Given the description of an element on the screen output the (x, y) to click on. 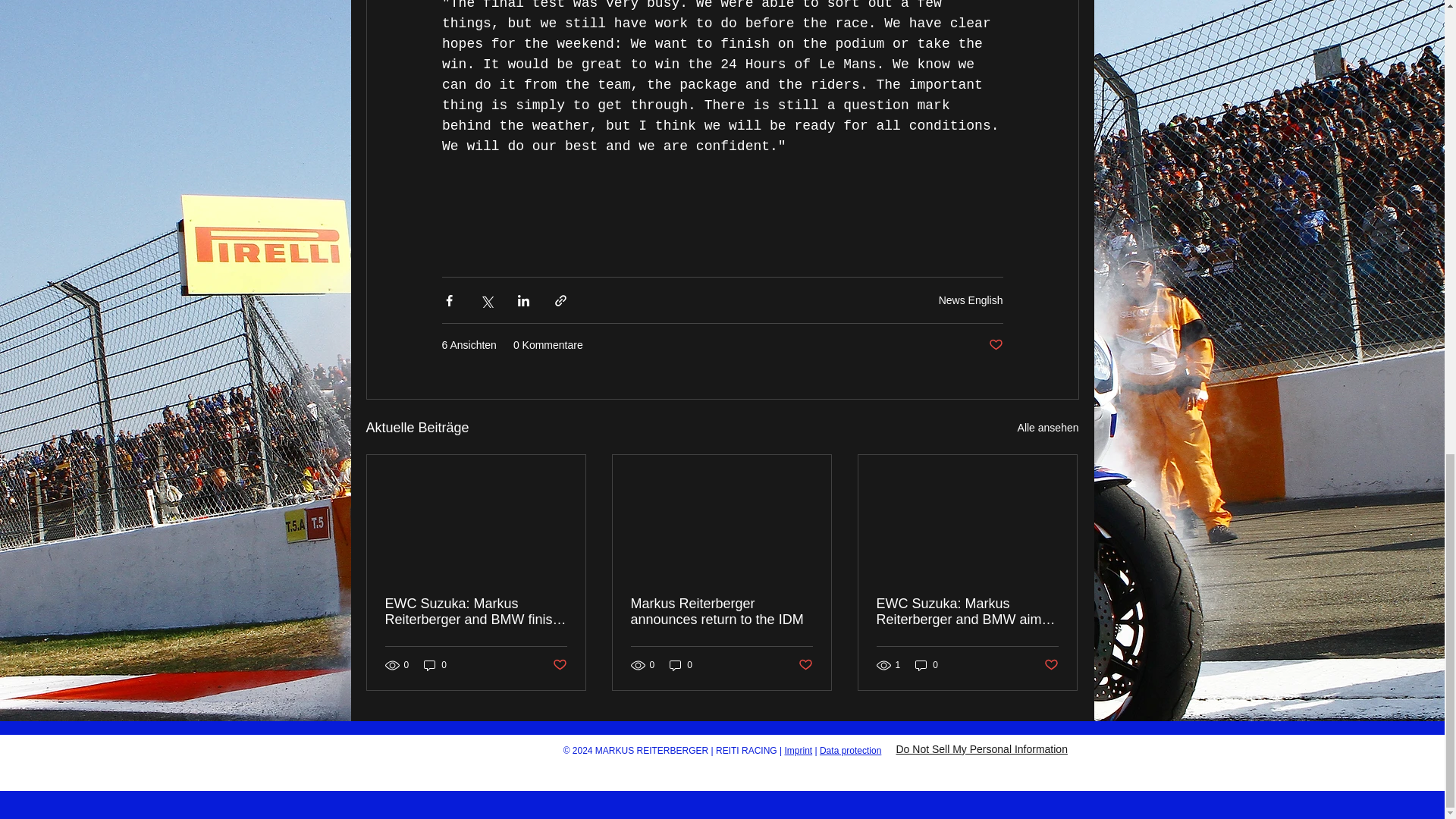
0 (681, 665)
Alle ansehen (1047, 427)
0 (926, 665)
EWC Suzuka: Markus Reiterberger and BMW aim for top result (967, 612)
EWC Suzuka: Markus Reiterberger and BMW finish in the Top 5! (476, 612)
0 (435, 665)
News English (971, 300)
Markus Reiterberger announces return to the IDM (721, 612)
